Given the description of an element on the screen output the (x, y) to click on. 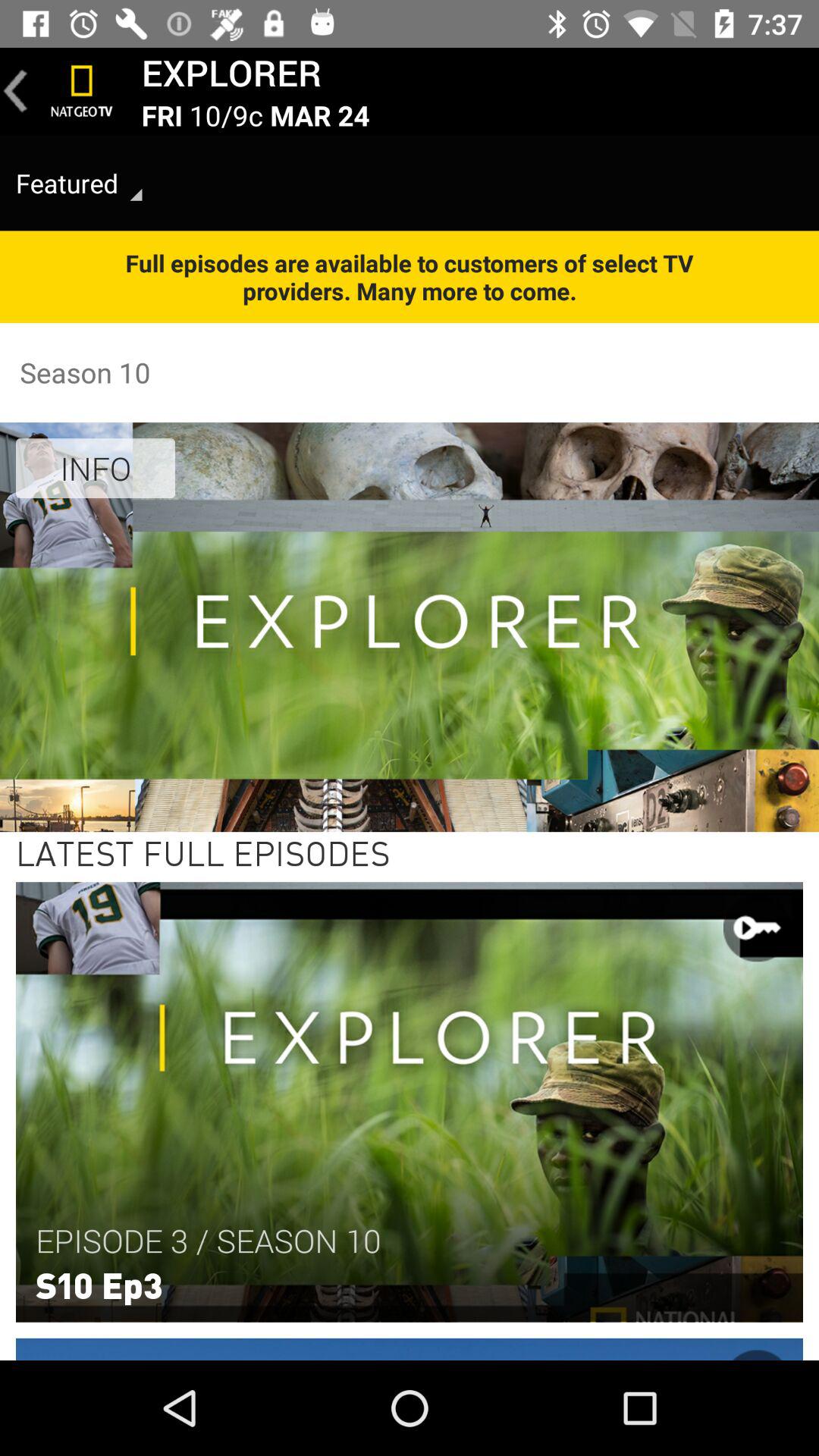
jump to the info (95, 468)
